Given the description of an element on the screen output the (x, y) to click on. 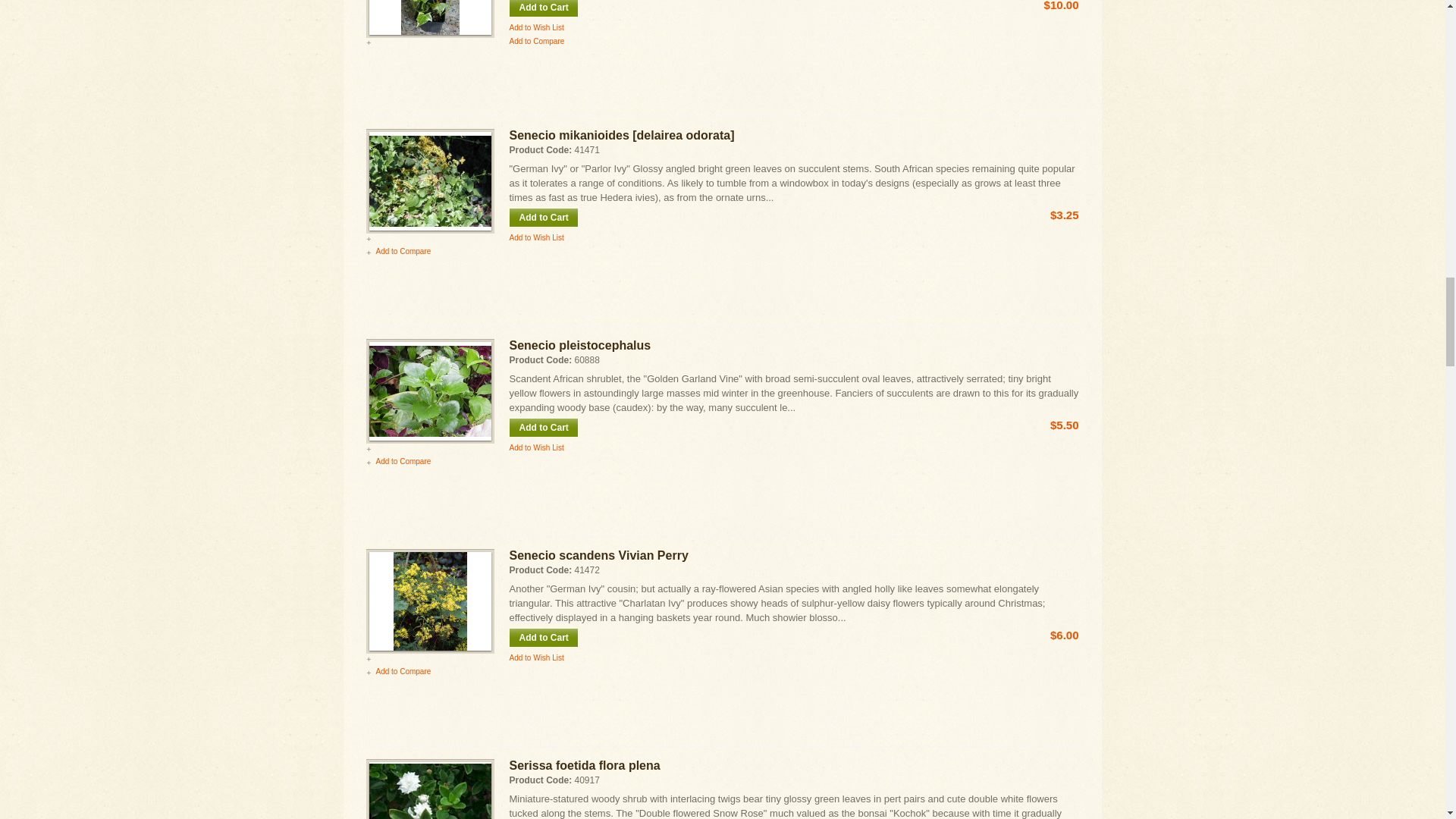
Senecio scandens Vivian Perry (429, 601)
Serissa foetida flora plena (429, 790)
Senecio macroglossus variegatus (429, 17)
Senecio pleistocephalus  (429, 391)
